Given the description of an element on the screen output the (x, y) to click on. 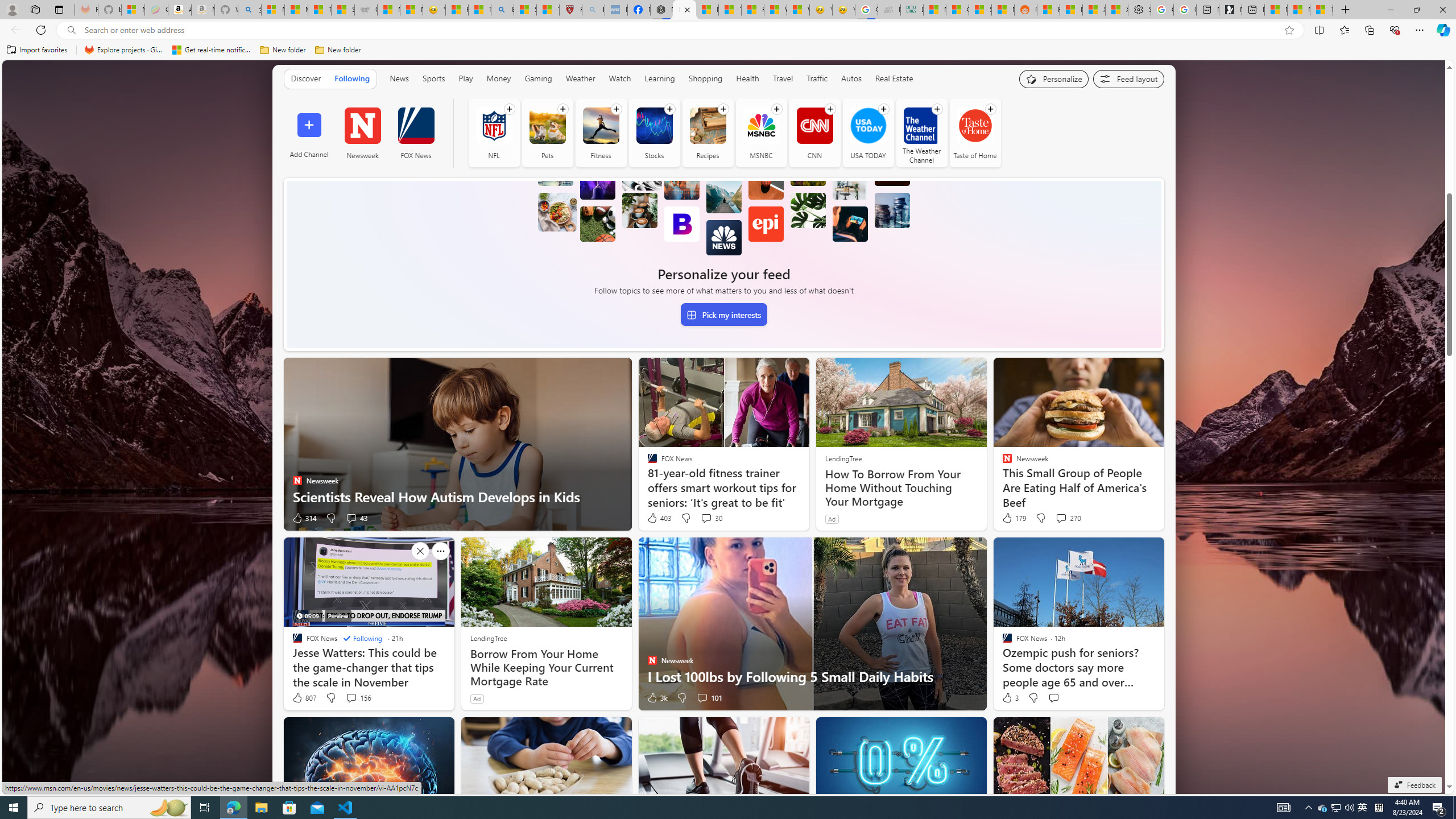
179 Like (1012, 517)
Search icon (70, 29)
FOX News (415, 125)
View comments 156 Comment (350, 697)
Pick my interests (723, 314)
